Given the description of an element on the screen output the (x, y) to click on. 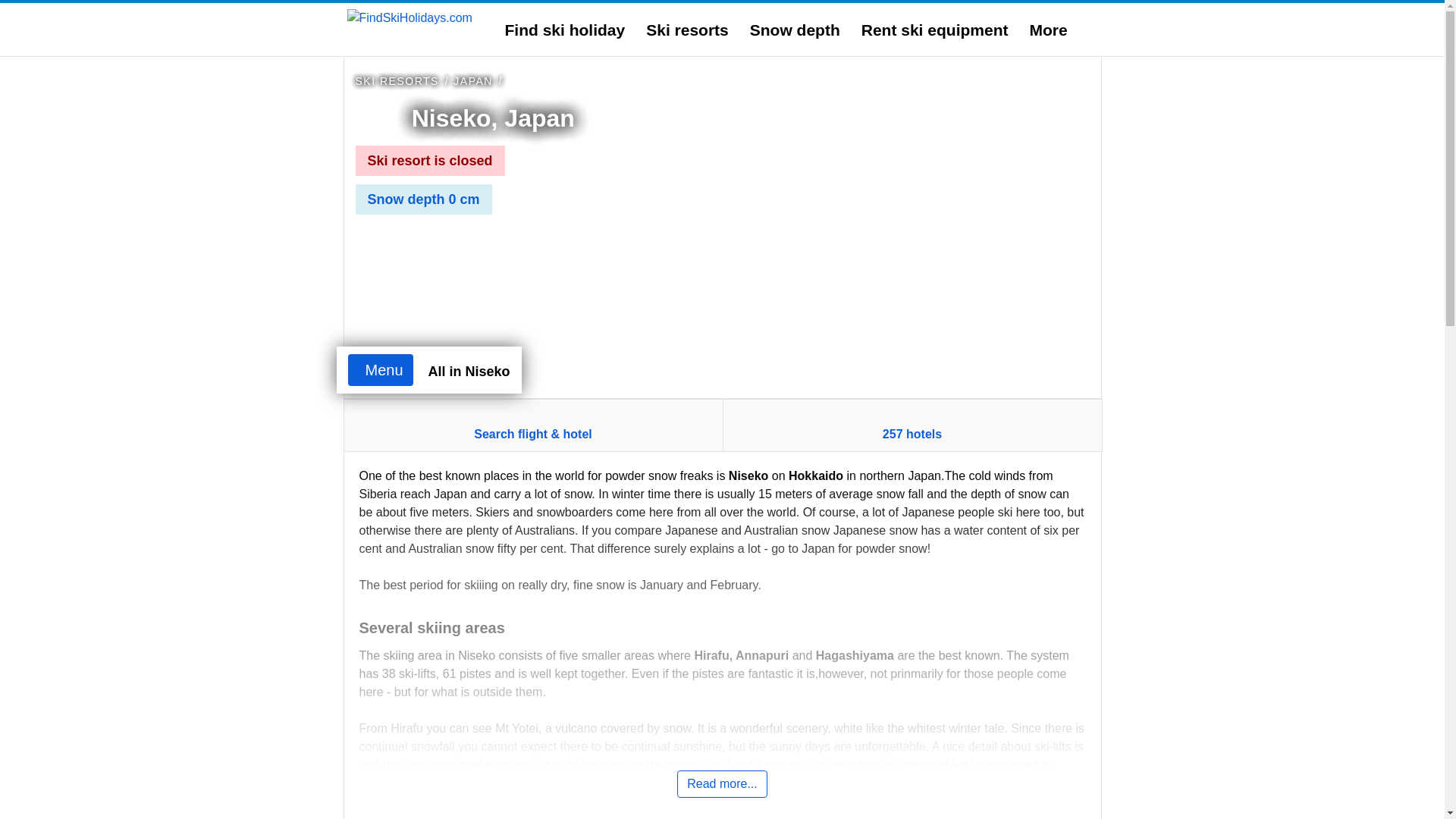
Japan (472, 80)
Snow depth (794, 29)
Ski resorts (396, 80)
Rent ski equipment (935, 29)
Find ski holiday (565, 29)
Ski resorts (687, 29)
Rent ski equipment (935, 29)
Snow depth (794, 29)
Find ski holiday (565, 29)
FindSkiHolidays.com (409, 16)
Ski resorts (687, 29)
More (1048, 29)
